Given the description of an element on the screen output the (x, y) to click on. 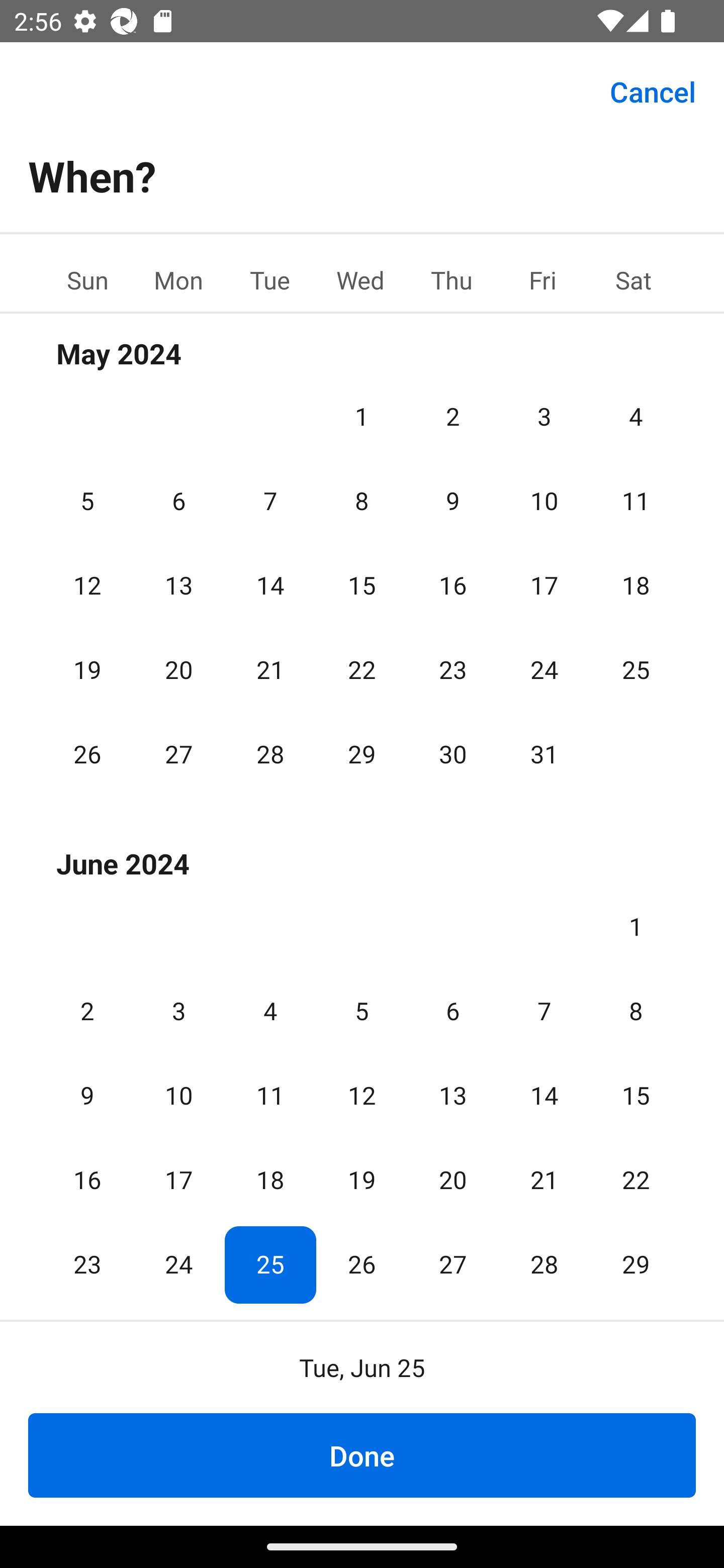
Cancel (652, 90)
Done (361, 1454)
